Given the description of an element on the screen output the (x, y) to click on. 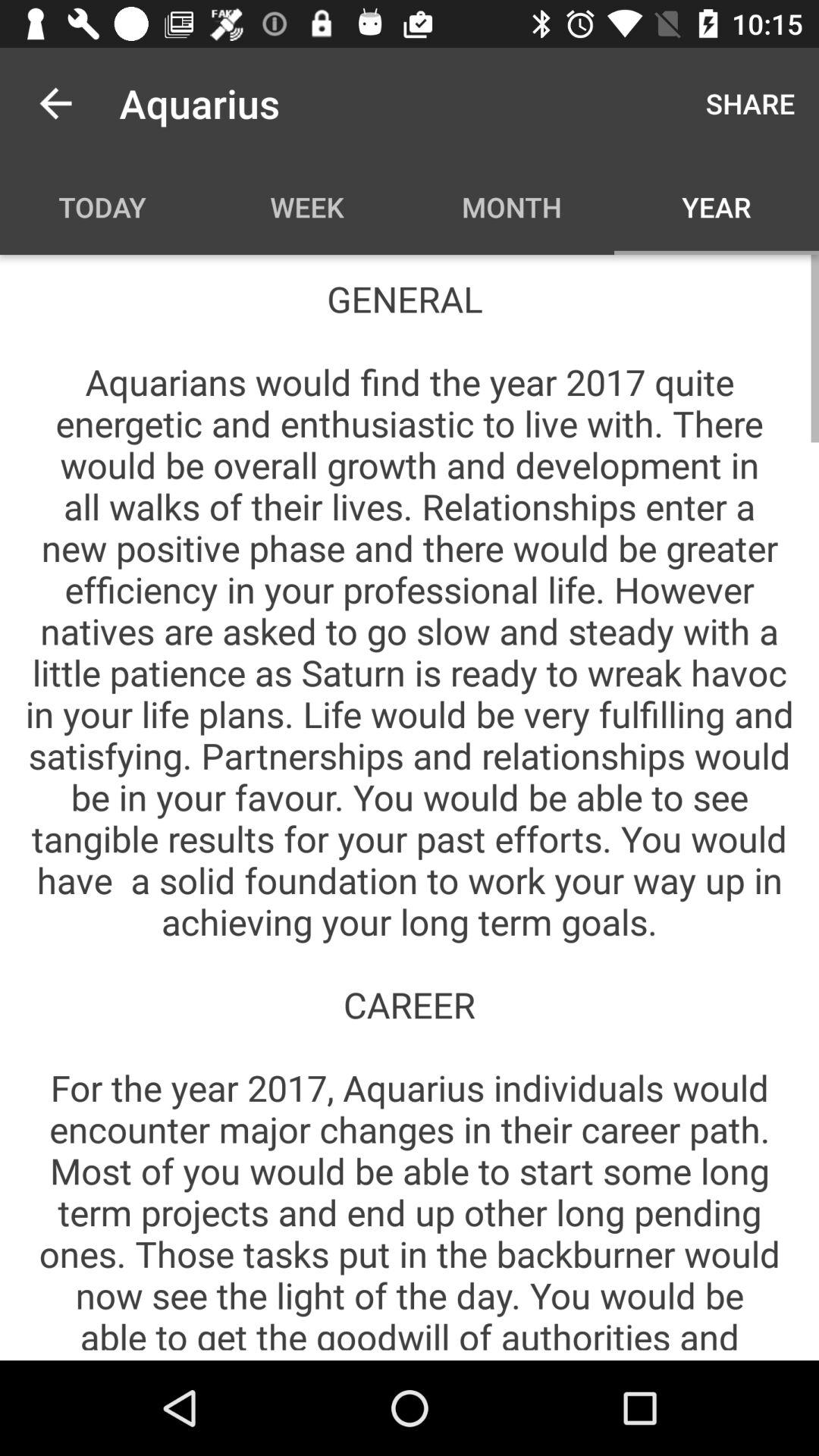
open the icon next to aquarius (55, 103)
